Given the description of an element on the screen output the (x, y) to click on. 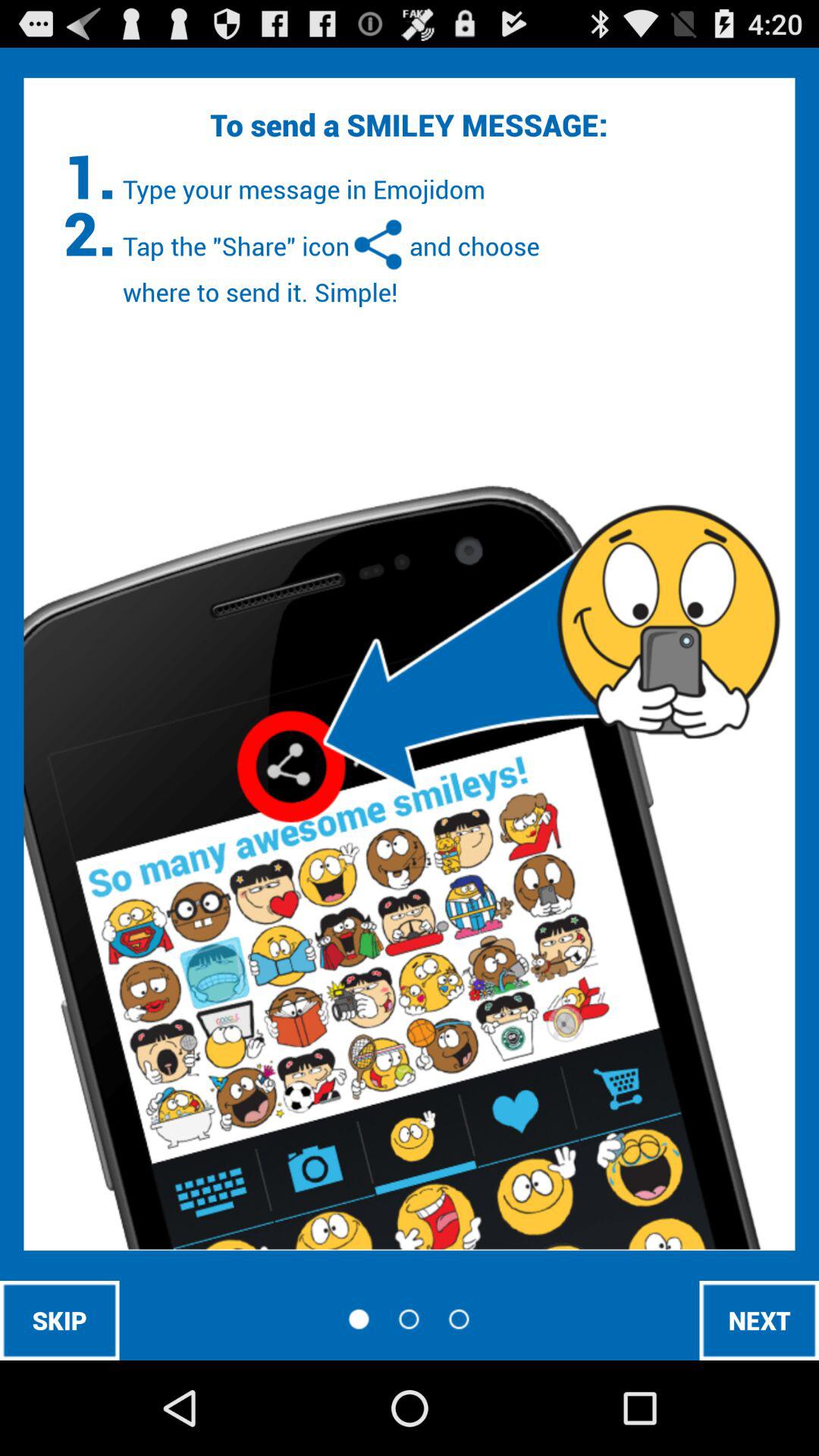
select skip icon (59, 1320)
